Given the description of an element on the screen output the (x, y) to click on. 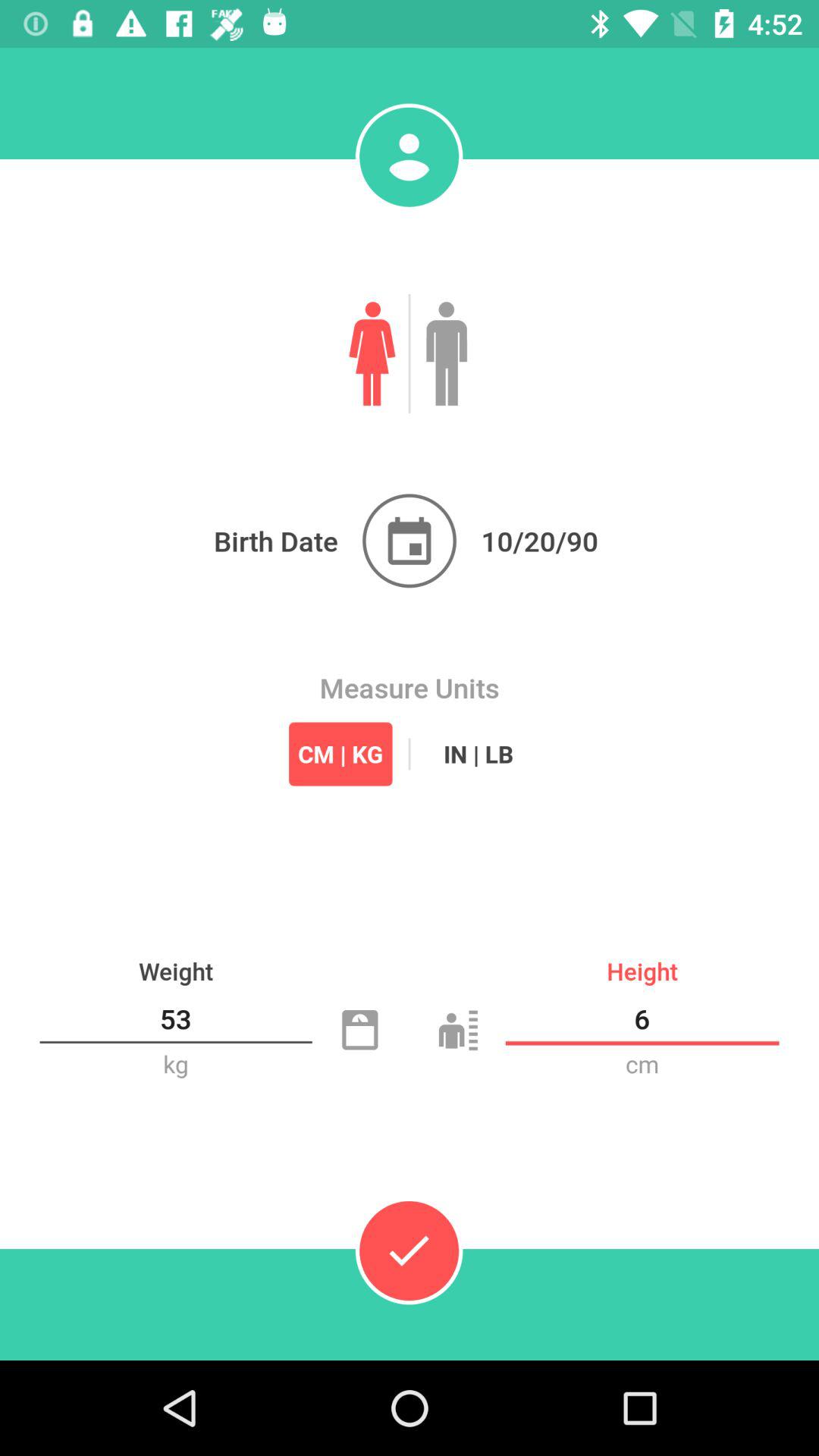
profile page (408, 157)
